Given the description of an element on the screen output the (x, y) to click on. 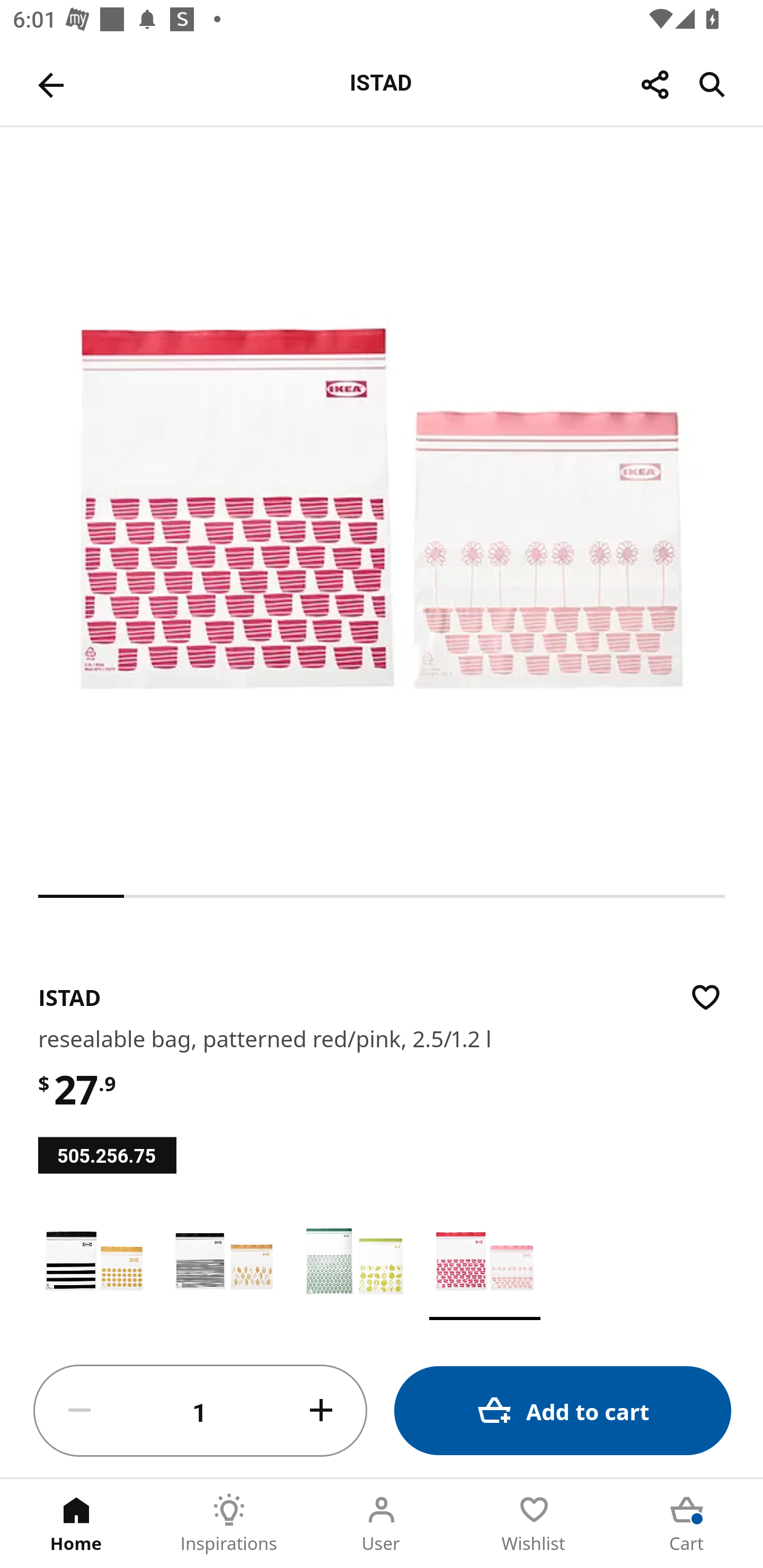
Add to cart (562, 1410)
1 (200, 1411)
Home
Tab 1 of 5 (76, 1522)
Inspirations
Tab 2 of 5 (228, 1522)
User
Tab 3 of 5 (381, 1522)
Wishlist
Tab 4 of 5 (533, 1522)
Cart
Tab 5 of 5 (686, 1522)
